Given the description of an element on the screen output the (x, y) to click on. 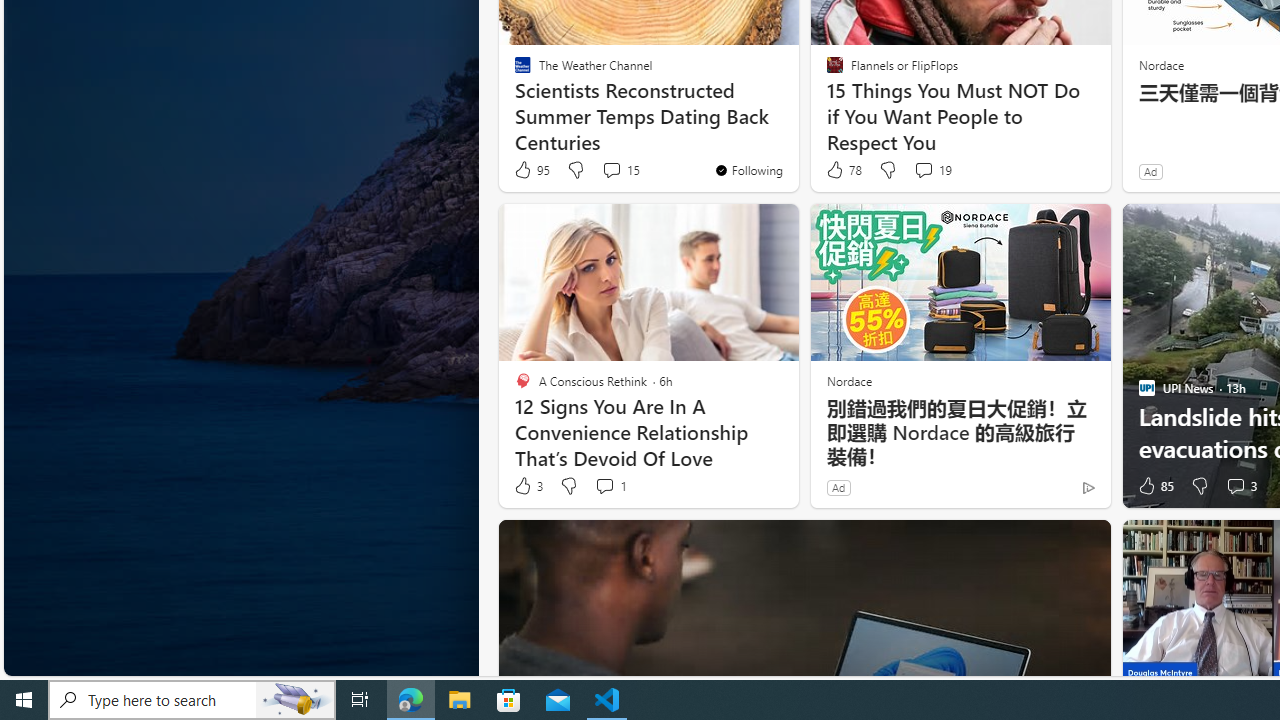
View comments 1 Comment (610, 485)
3 Like (527, 485)
View comments 19 Comment (923, 169)
View comments 3 Comment (1240, 485)
78 Like (843, 170)
You're following The Weather Channel (747, 169)
View comments 19 Comment (932, 170)
View comments 1 Comment (603, 485)
View comments 15 Comment (619, 170)
View comments 15 Comment (611, 169)
85 Like (1154, 485)
